Given the description of an element on the screen output the (x, y) to click on. 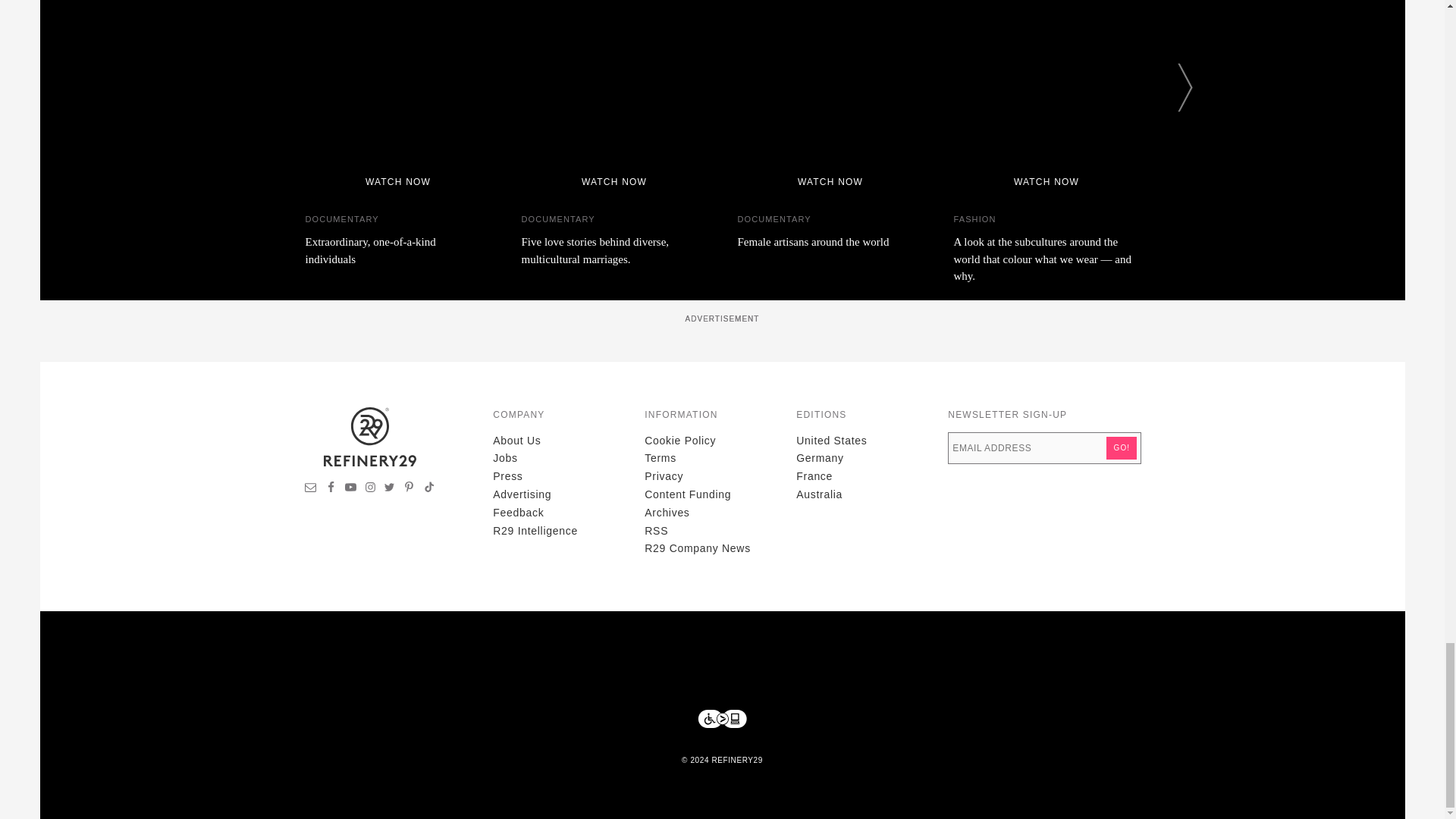
Sign up for newsletters (310, 489)
